Given the description of an element on the screen output the (x, y) to click on. 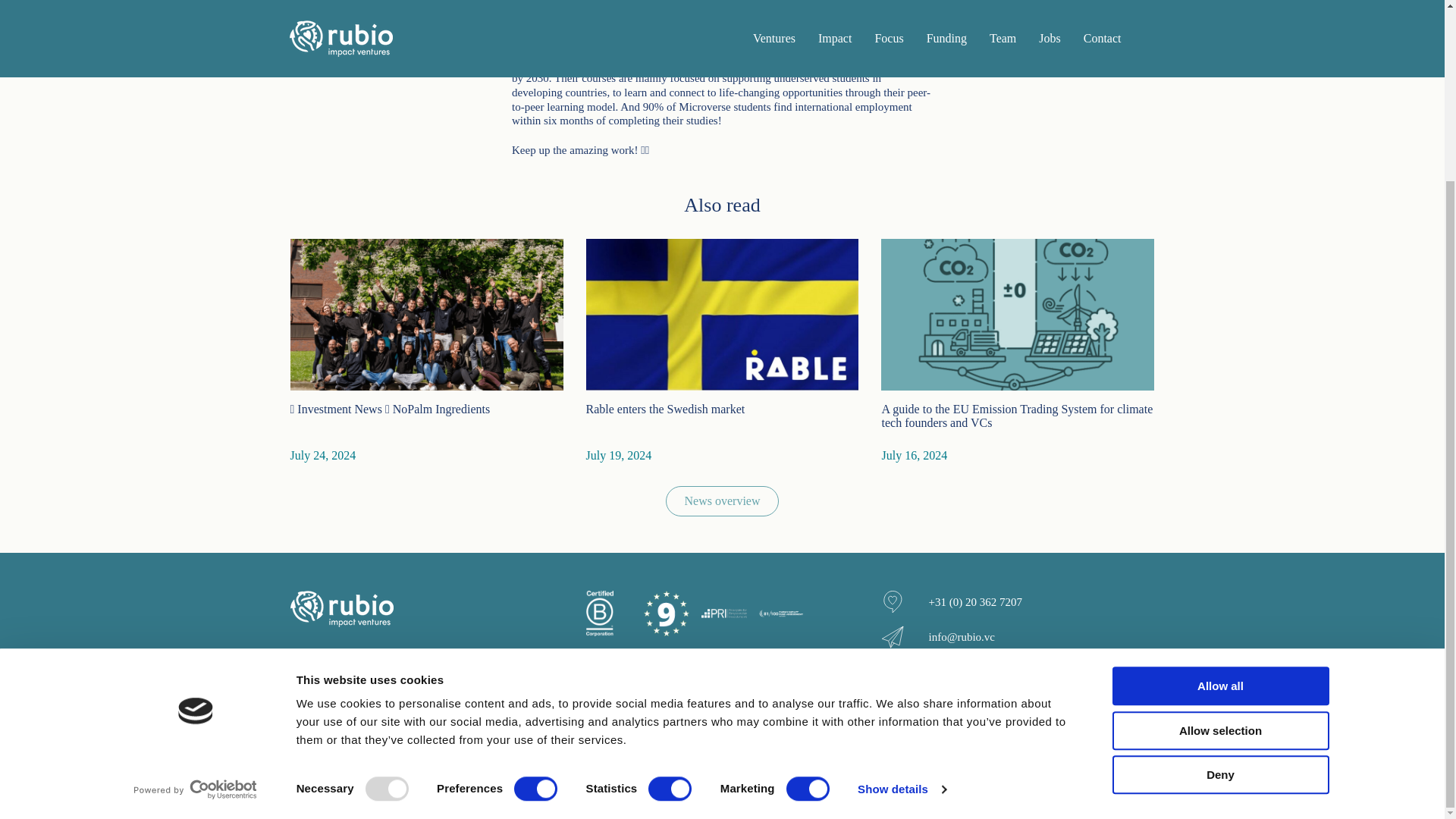
News overview (721, 501)
Deny (1219, 552)
Rubio (341, 608)
Allow selection (1219, 507)
Show details (900, 567)
Rable enters the Swedish market (722, 351)
